Given the description of an element on the screen output the (x, y) to click on. 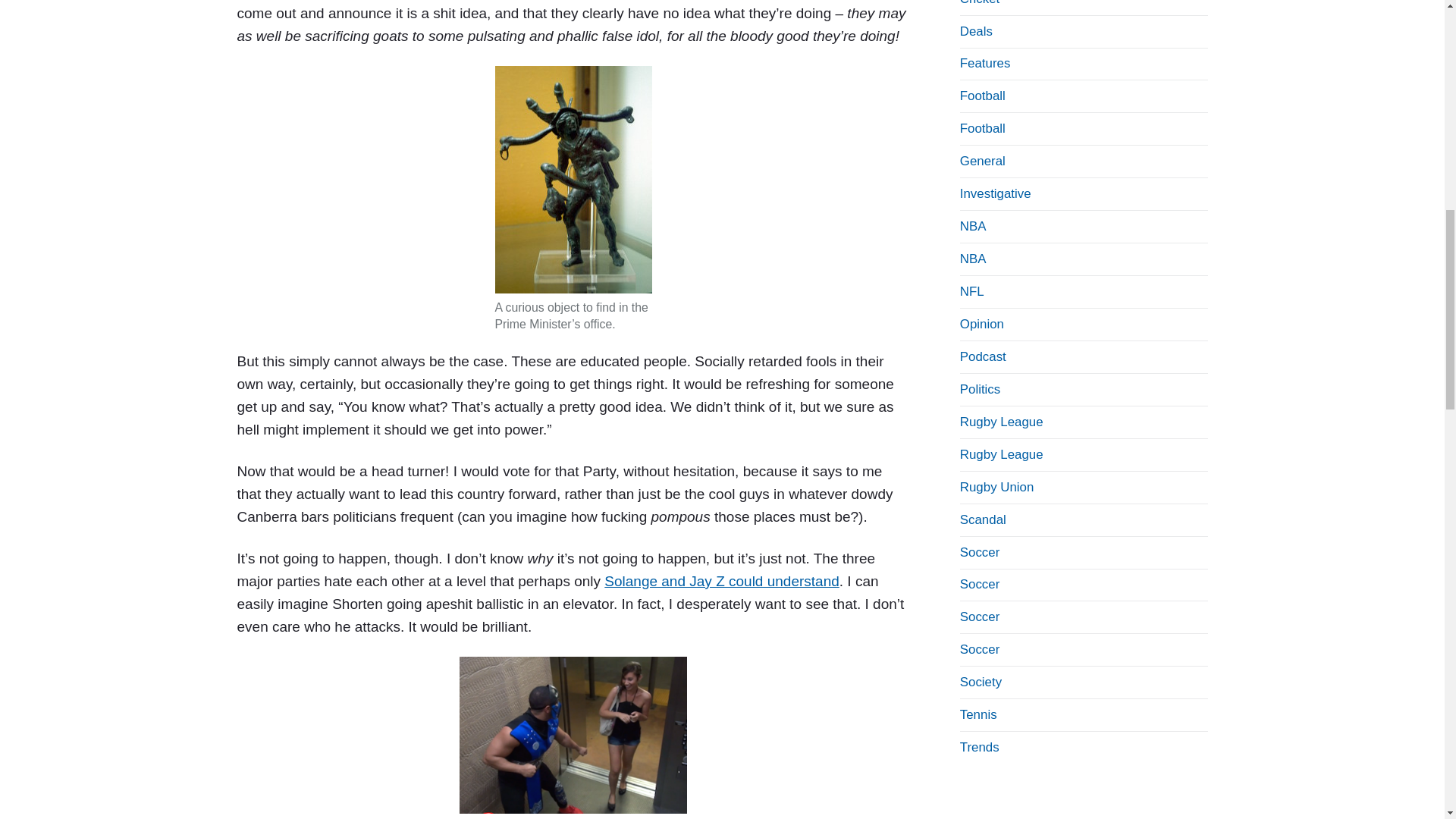
Cricket (979, 2)
Deals (975, 31)
Features (984, 63)
Solange and Jay Z could understand (722, 580)
